Given the description of an element on the screen output the (x, y) to click on. 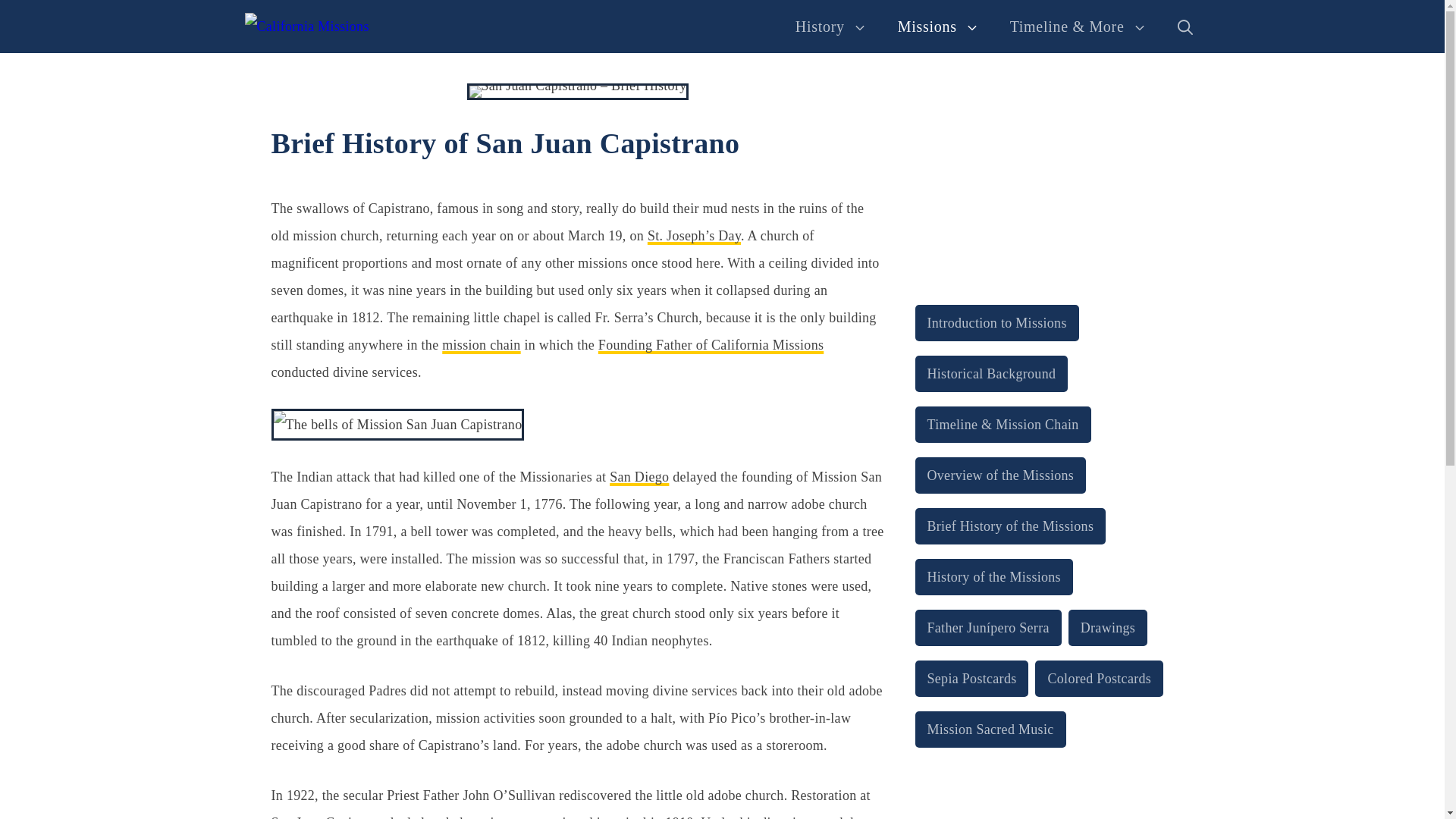
History (831, 26)
Missions (938, 26)
Brief History of San Juan Capistrano - 2 (397, 424)
Brief History of San Juan Capistrano - 1 (577, 91)
